Given the description of an element on the screen output the (x, y) to click on. 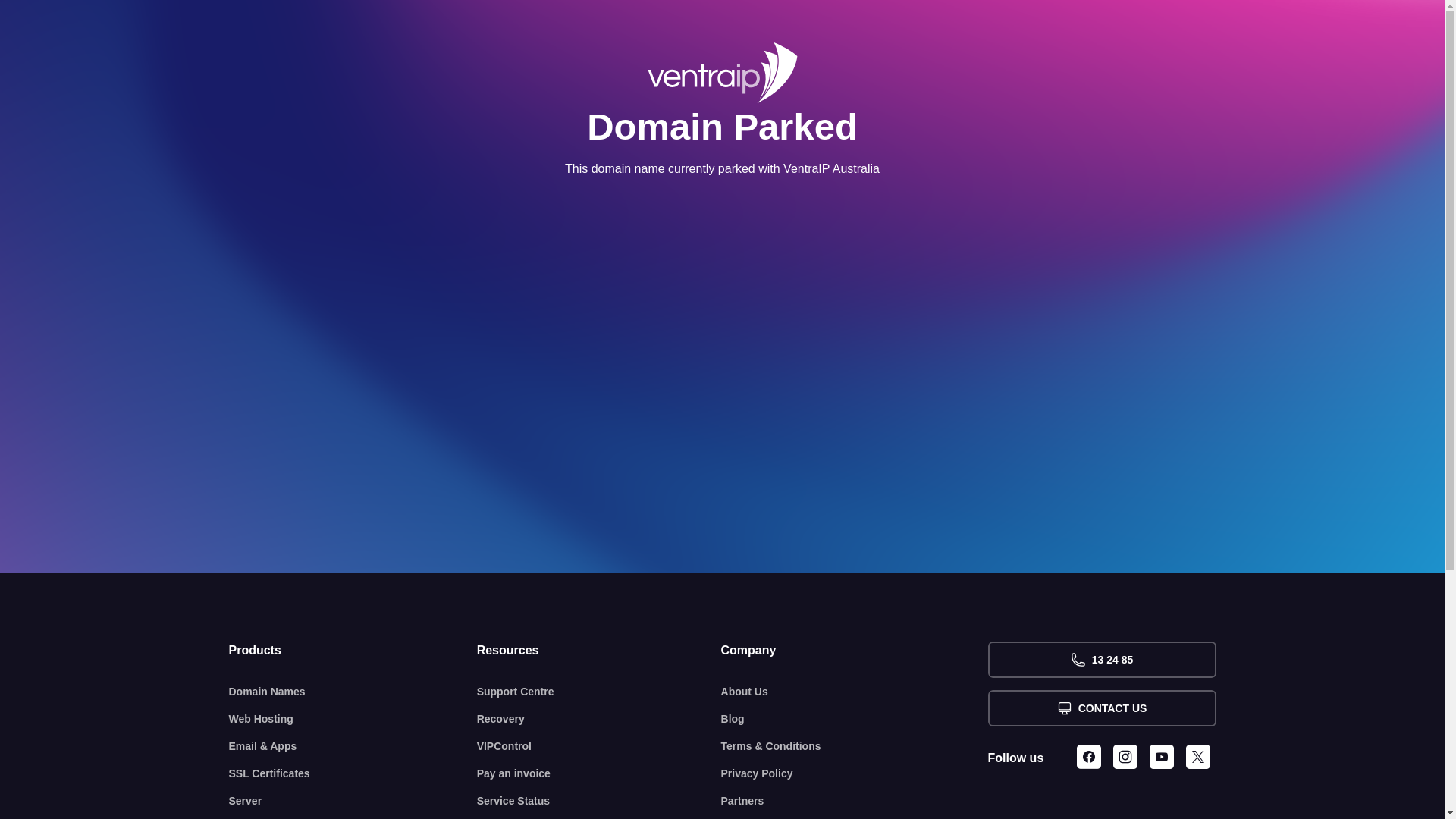
Pay an invoice Element type: text (598, 773)
Email & Apps Element type: text (352, 745)
VIPControl Element type: text (598, 745)
Terms & Conditions Element type: text (854, 745)
Web Hosting Element type: text (352, 718)
Recovery Element type: text (598, 718)
Service Status Element type: text (598, 800)
Domain Names Element type: text (352, 691)
Partners Element type: text (854, 800)
Privacy Policy Element type: text (854, 773)
13 24 85 Element type: text (1101, 659)
Server Element type: text (352, 800)
Support Centre Element type: text (598, 691)
About Us Element type: text (854, 691)
SSL Certificates Element type: text (352, 773)
Blog Element type: text (854, 718)
CONTACT US Element type: text (1101, 708)
